Given the description of an element on the screen output the (x, y) to click on. 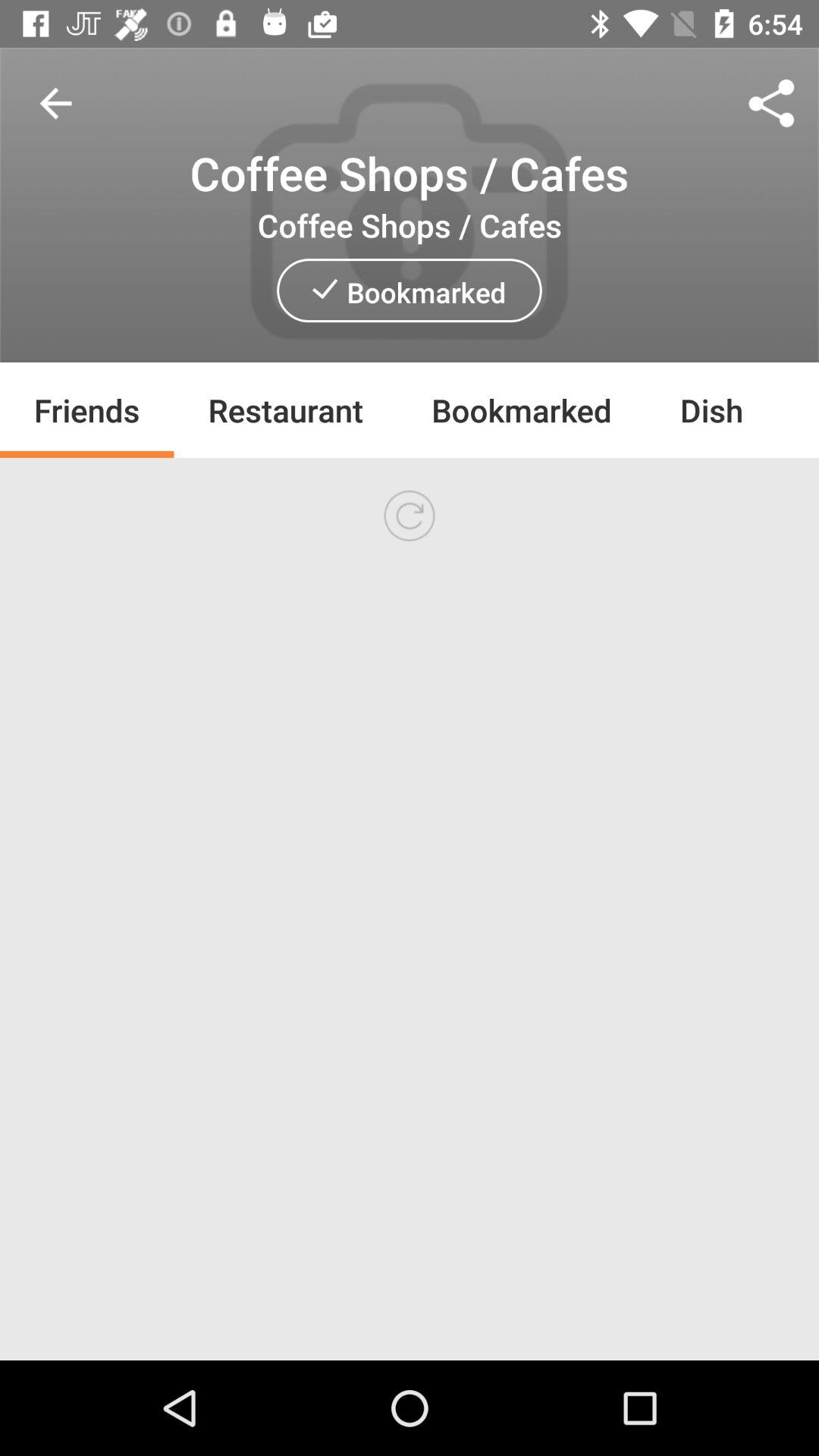
refresh page (409, 515)
